Given the description of an element on the screen output the (x, y) to click on. 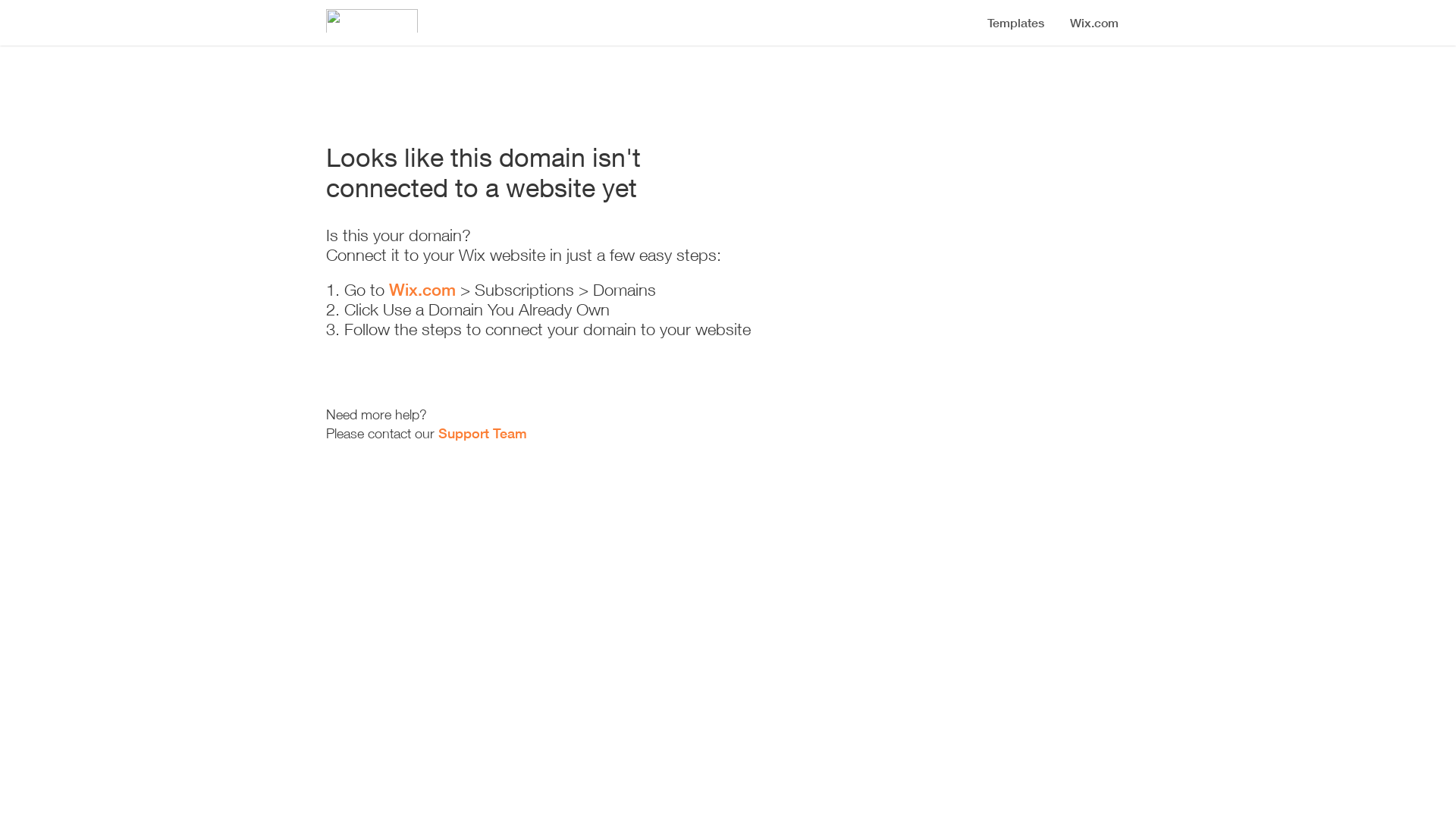
Wix.com Element type: text (422, 289)
Support Team Element type: text (482, 432)
